Given the description of an element on the screen output the (x, y) to click on. 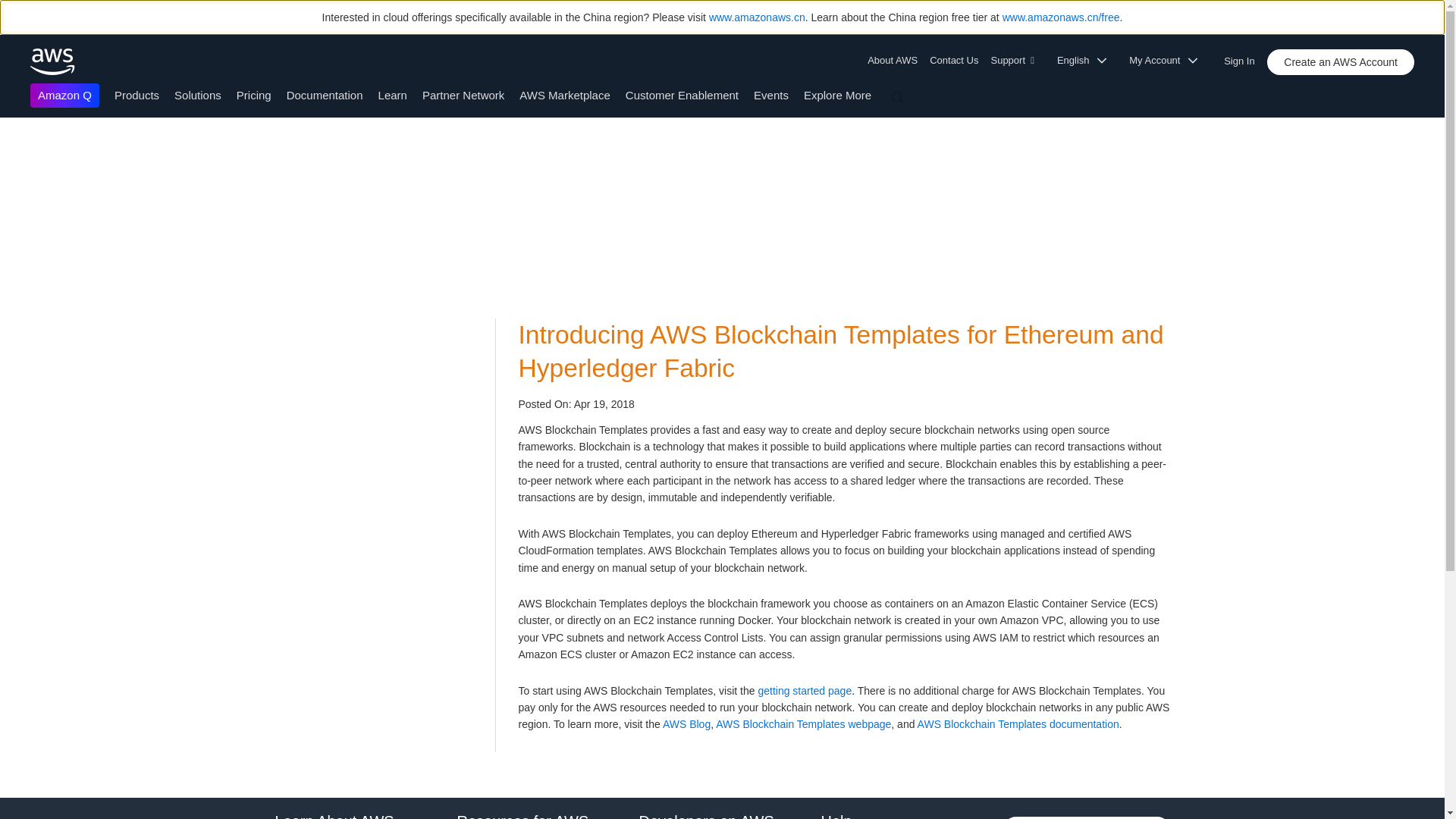
Pricing (252, 94)
Learn (392, 94)
My Account   (1168, 60)
Sign In (1243, 58)
Contact Us (953, 60)
AWS Marketplace (564, 94)
Partner Network (462, 94)
Products (136, 94)
Documentation (324, 94)
Click here to return to Amazon Web Services homepage (52, 61)
